Given the description of an element on the screen output the (x, y) to click on. 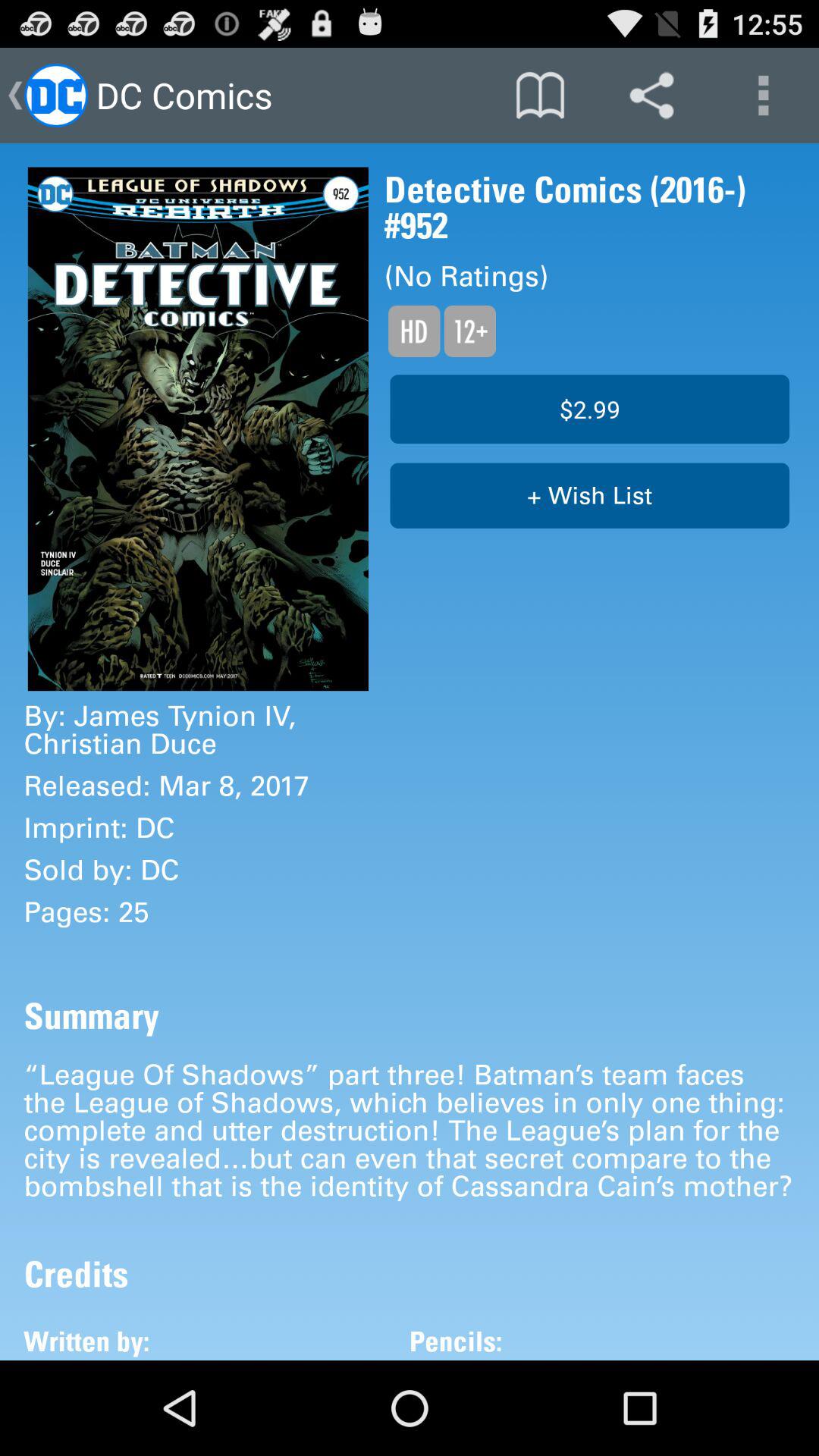
turn on + wish list on the right (589, 495)
